Given the description of an element on the screen output the (x, y) to click on. 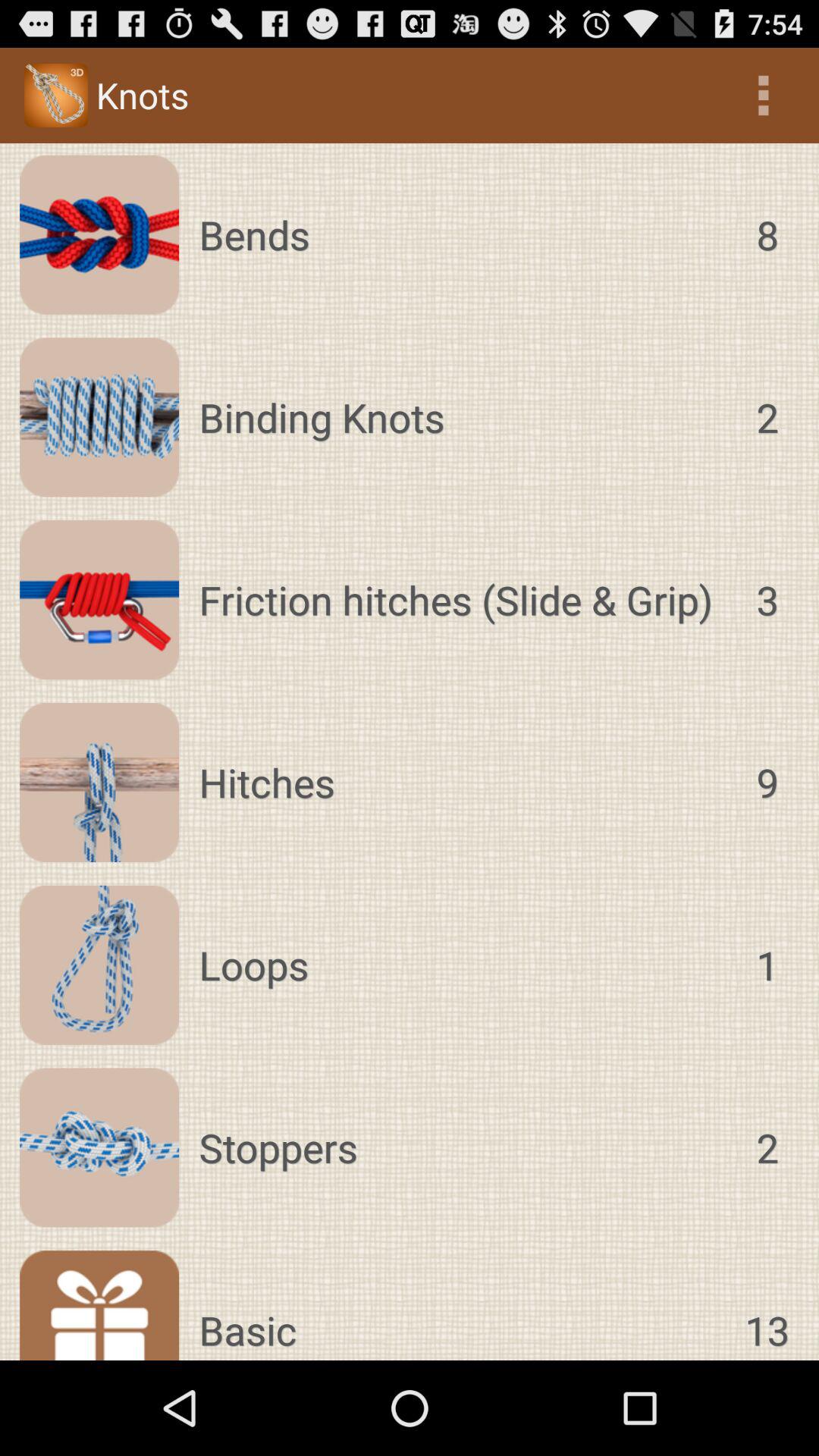
turn on the stoppers app (463, 1147)
